Given the description of an element on the screen output the (x, y) to click on. 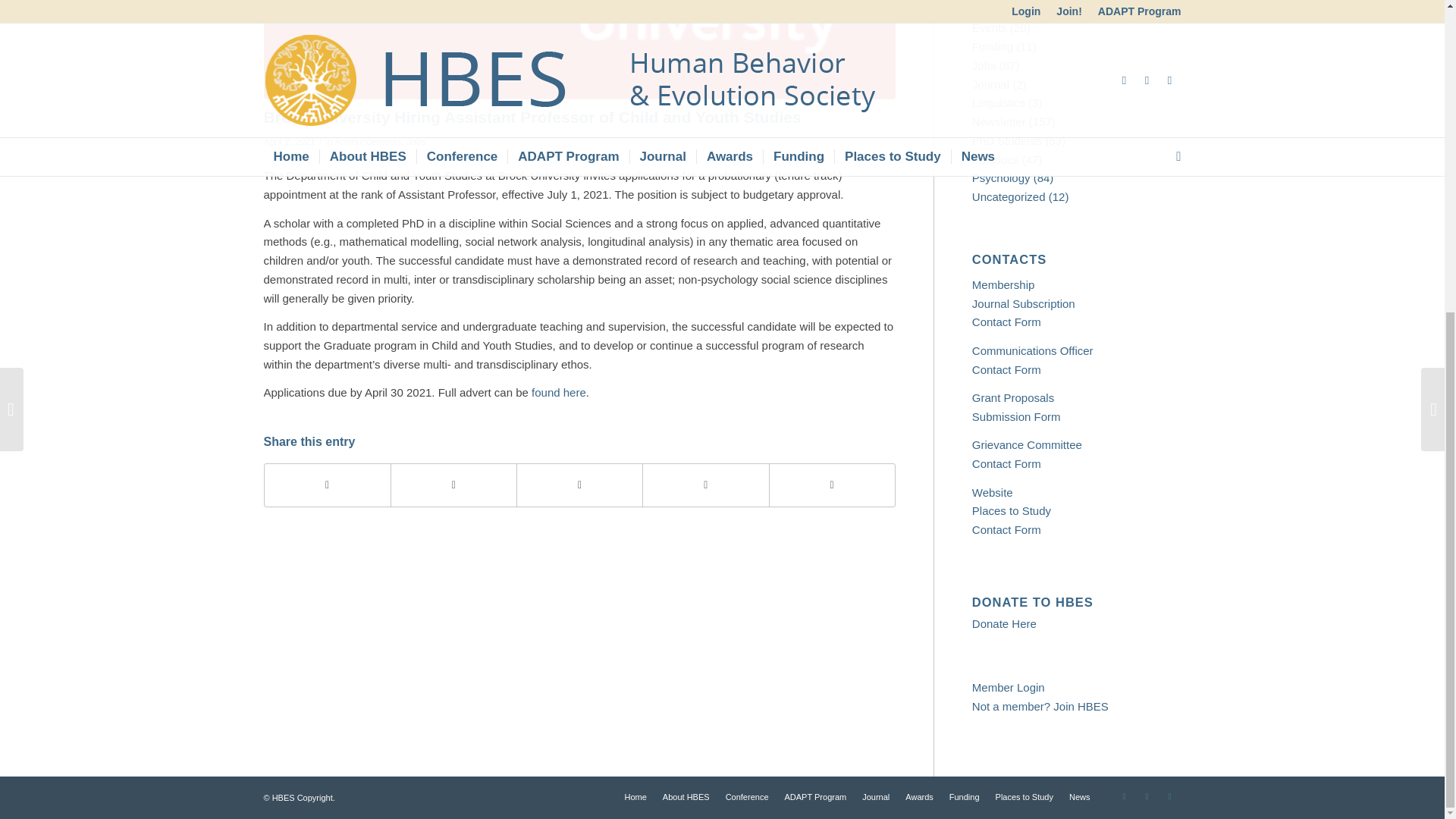
Announcements (367, 141)
found here (558, 391)
Jobs (416, 141)
brock (579, 49)
